Given the description of an element on the screen output the (x, y) to click on. 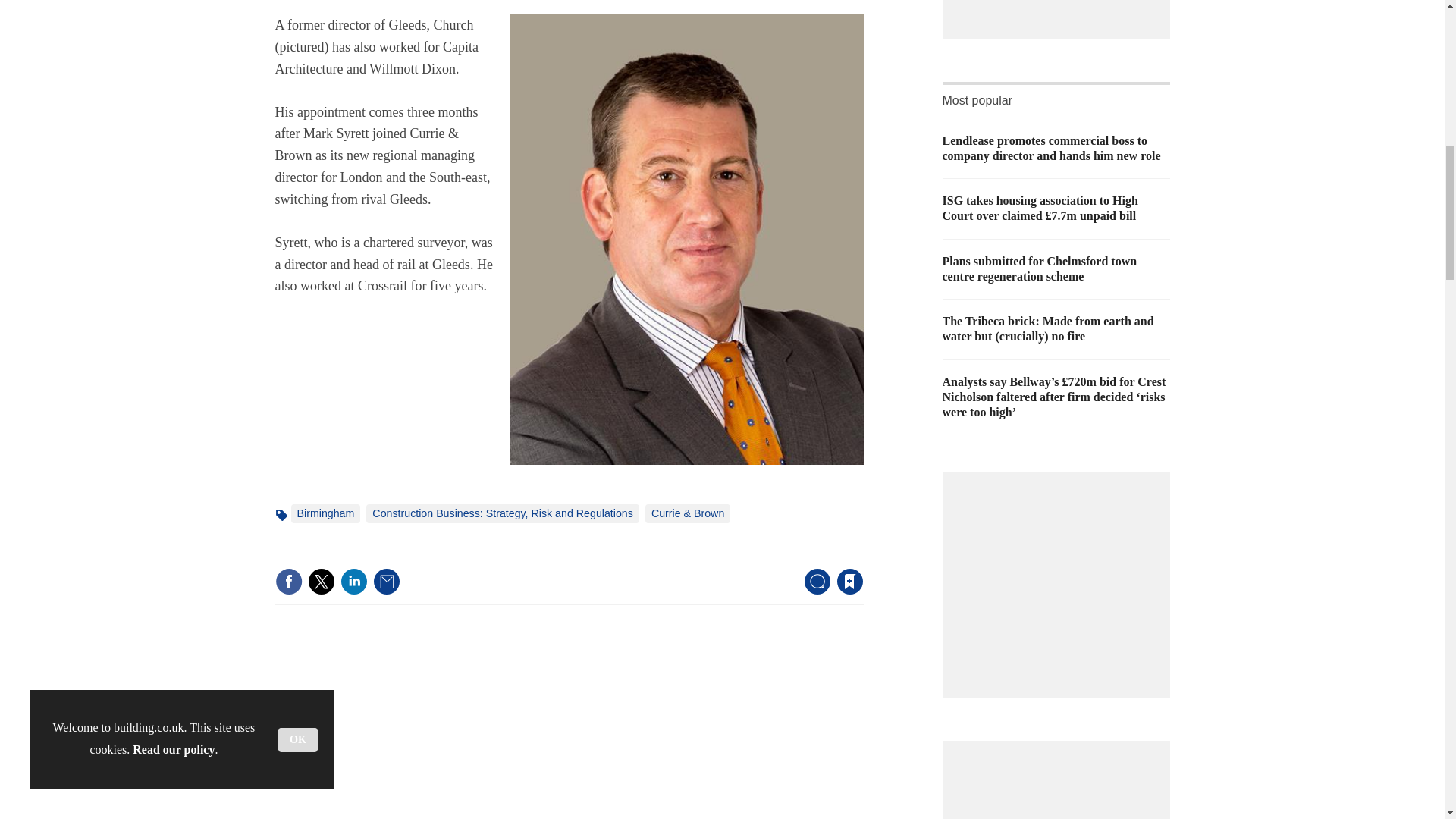
No comments (812, 590)
Share this on Linked in (352, 581)
Email this article (386, 581)
Share this on Twitter (320, 581)
Share this on Facebook (288, 581)
3rd party ad content (1059, 785)
3rd party ad content (1059, 576)
3rd party ad content (1059, 6)
